Given the description of an element on the screen output the (x, y) to click on. 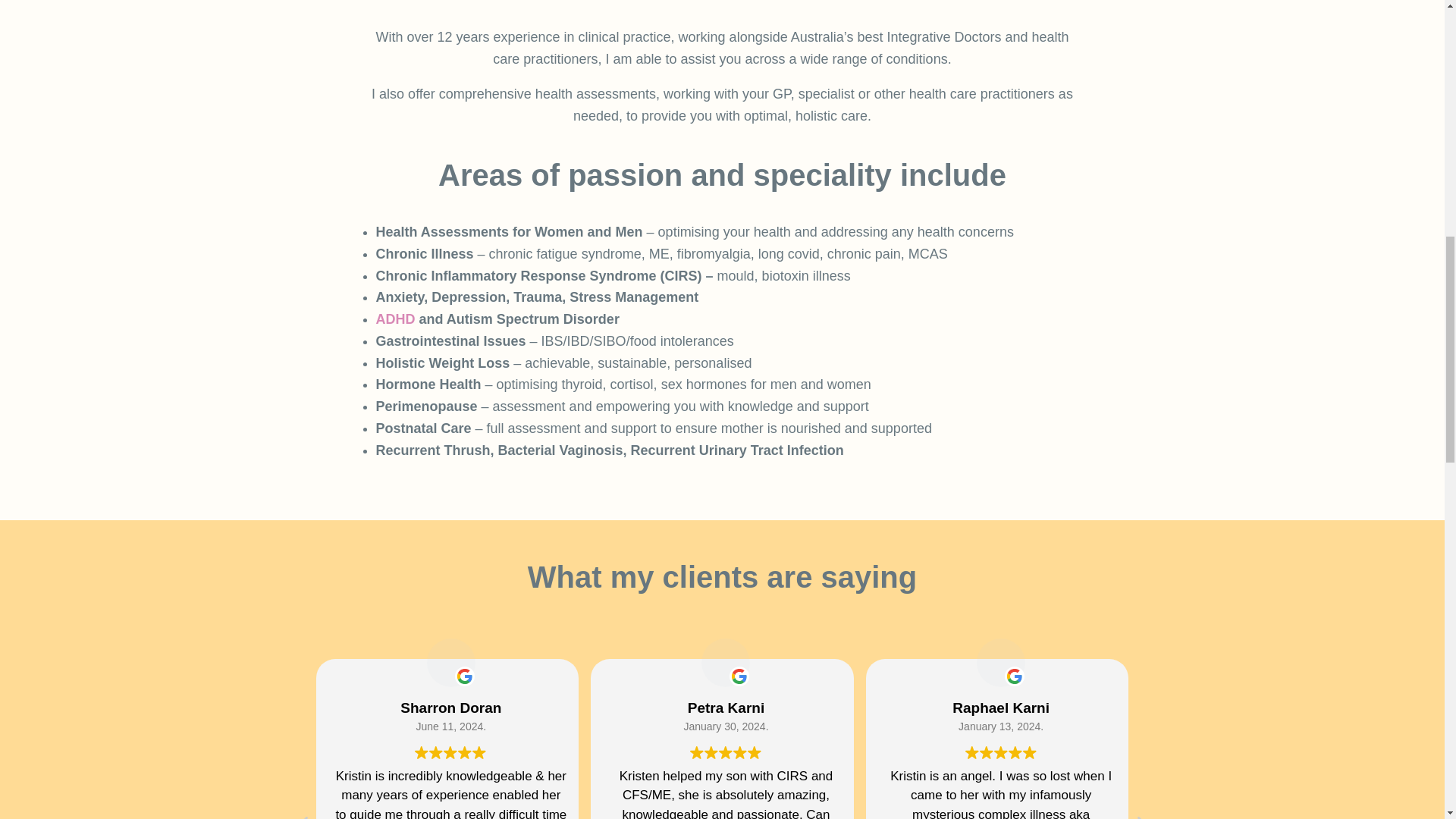
ADHD (394, 319)
